Given the description of an element on the screen output the (x, y) to click on. 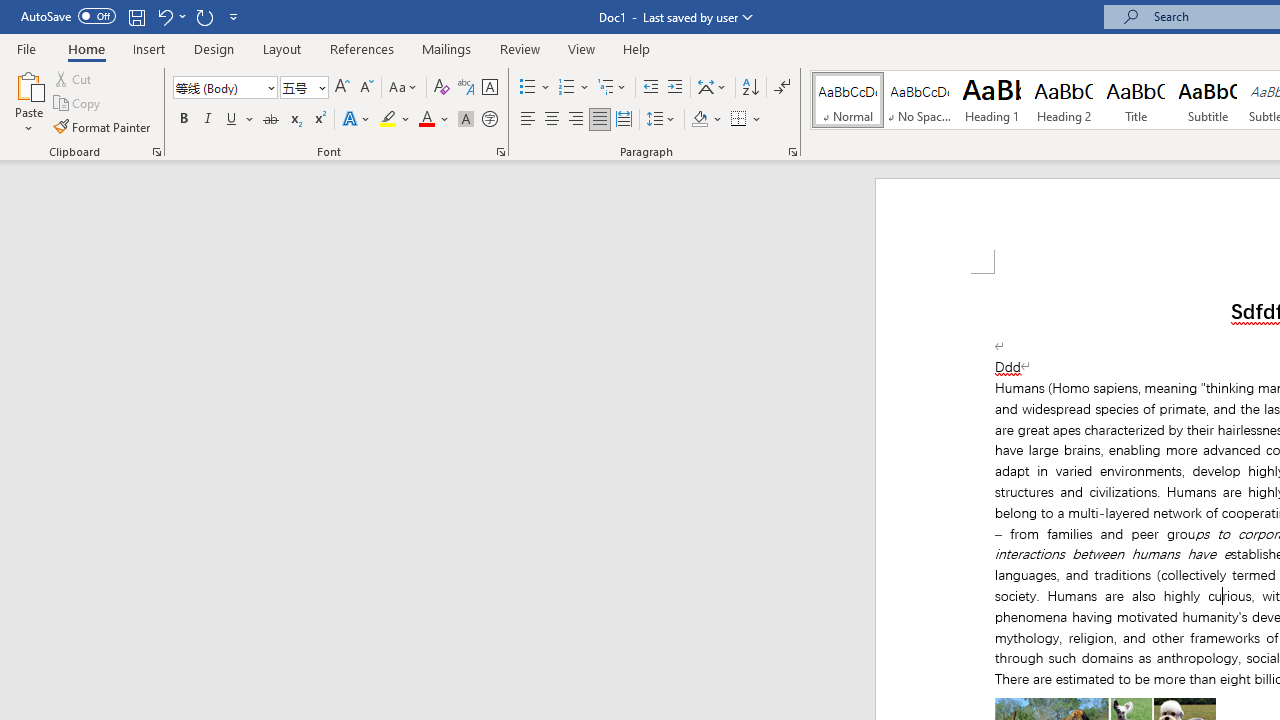
Undo Italic (170, 15)
Shading RGB(0, 0, 0) (699, 119)
Show/Hide Editing Marks (781, 87)
Subscript (294, 119)
Line and Paragraph Spacing (661, 119)
Distributed (623, 119)
Font... (500, 151)
